Given the description of an element on the screen output the (x, y) to click on. 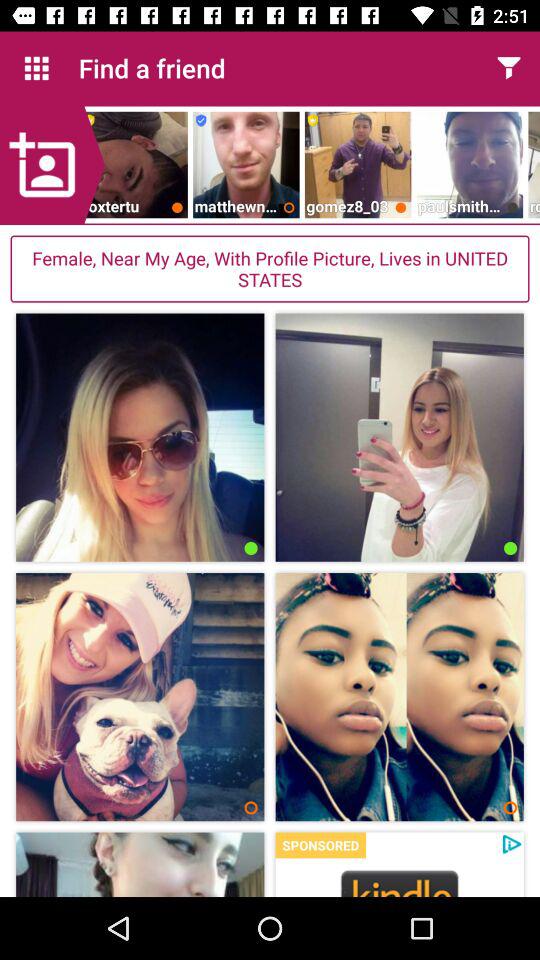
click icon to the right of find a friend icon (508, 67)
